Given the description of an element on the screen output the (x, y) to click on. 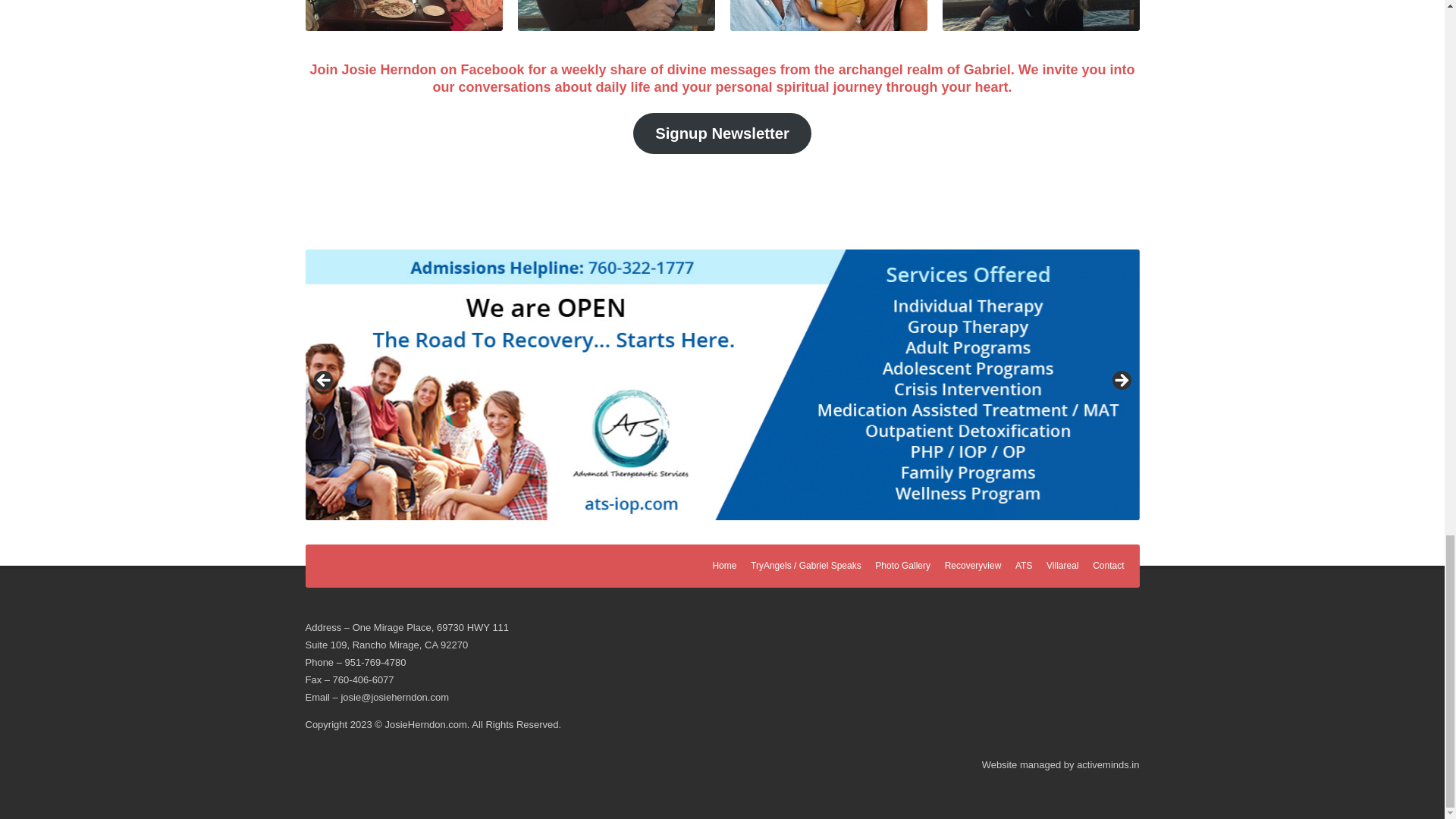
Photo Gallery (902, 565)
Previous (323, 381)
Next (1119, 381)
Home (723, 565)
Signup Newsletter (721, 133)
Recoveryview (972, 565)
